Given the description of an element on the screen output the (x, y) to click on. 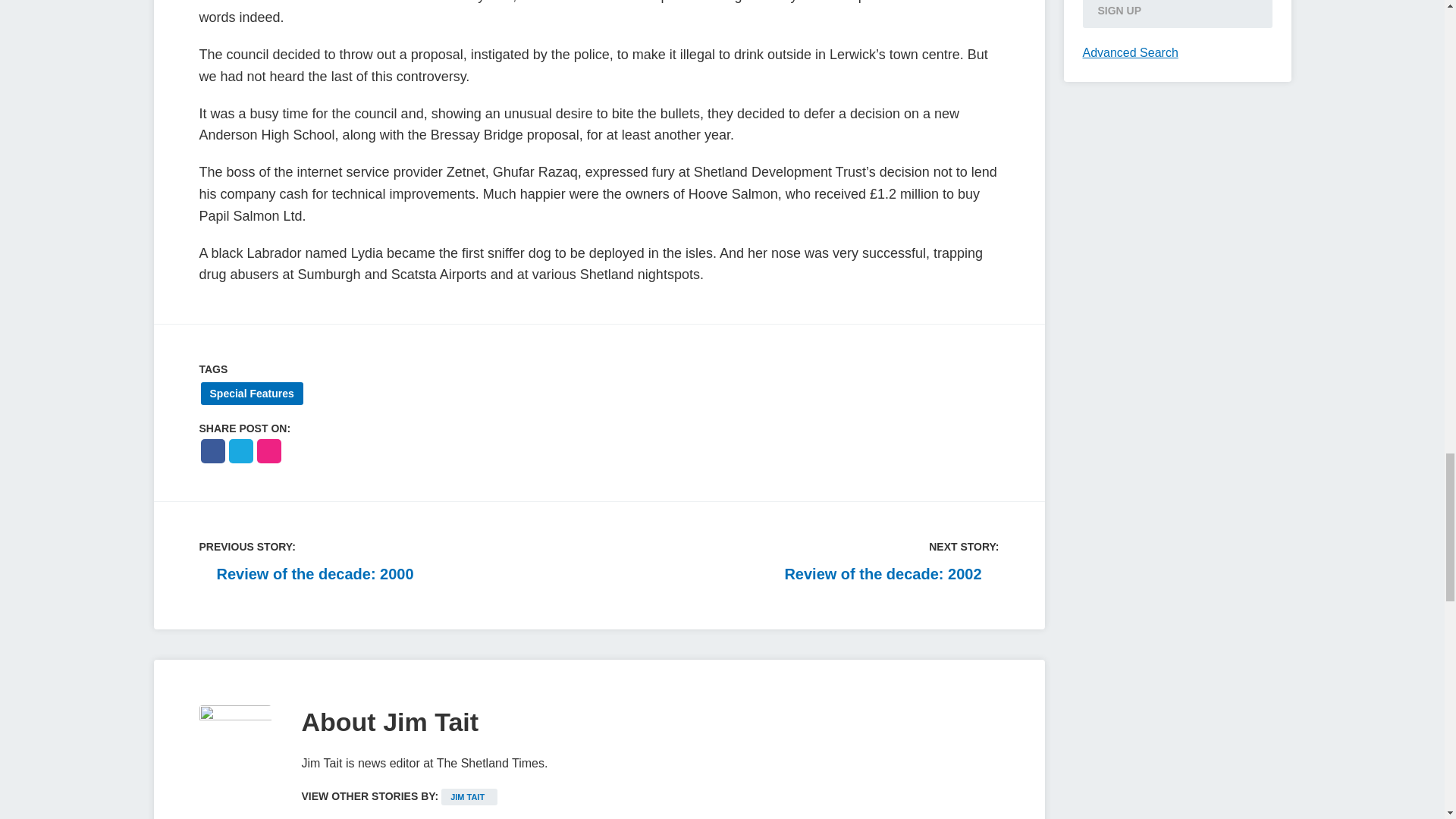
Special Features (251, 393)
Review of the decade: 2000 (305, 573)
JIM TAIT (469, 796)
Review of the decade: 2002 (891, 573)
